Given the description of an element on the screen output the (x, y) to click on. 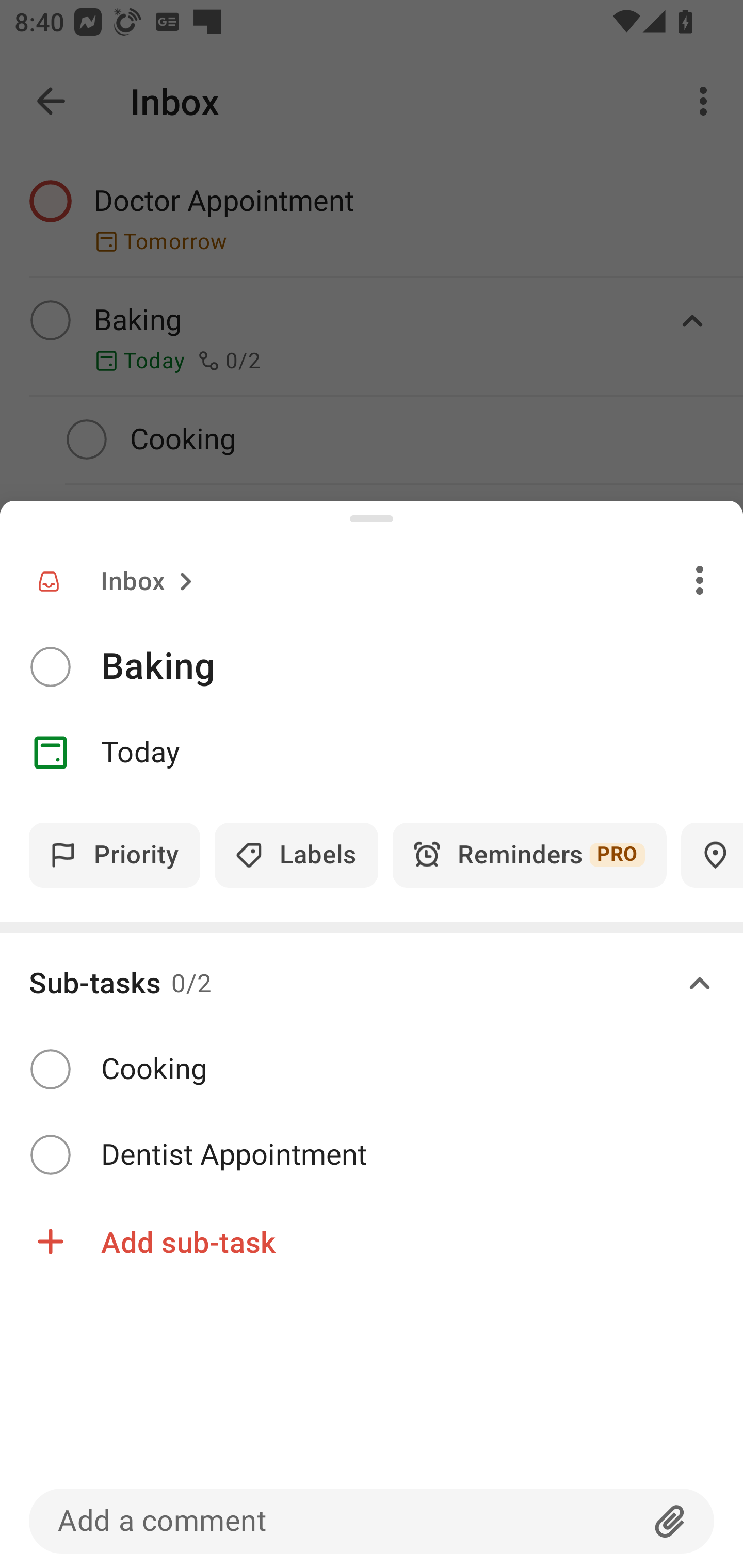
Overflow menu (699, 580)
Complete (50, 667)
Baking​ (422, 666)
Date Today (371, 752)
Priority (113, 855)
Labels (296, 855)
Reminders PRO (529, 855)
Locations PRO (712, 855)
Sub-tasks 0/2 Expand/collapse (371, 983)
Expand/collapse (699, 983)
Complete Cooking (371, 1070)
Complete (50, 1069)
Complete Dentist Appointment (371, 1155)
Complete (50, 1154)
Add sub-task (371, 1240)
Add a comment Attachment (371, 1520)
Attachment (670, 1520)
